Given the description of an element on the screen output the (x, y) to click on. 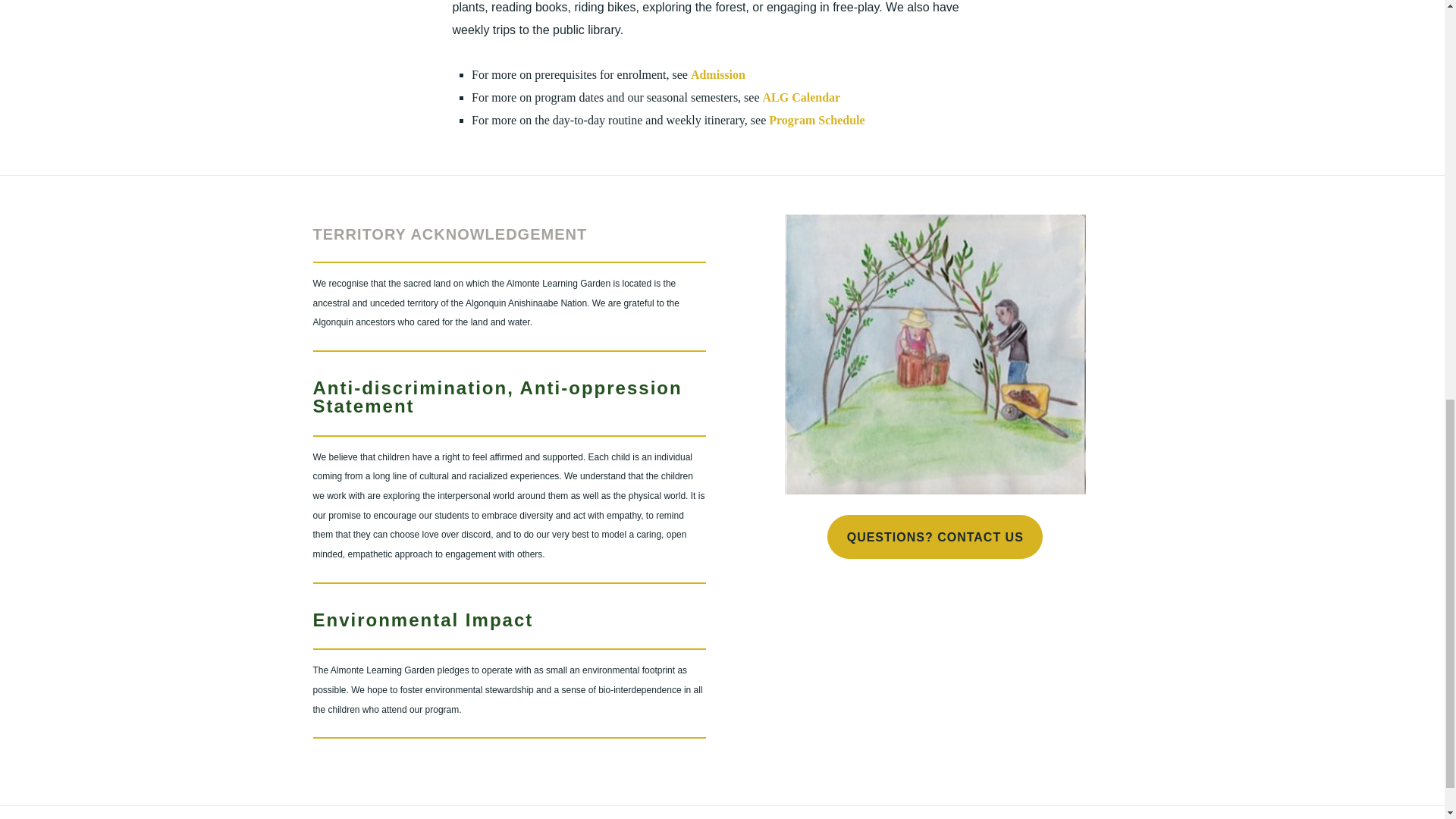
QUESTIONS? CONTACT US (934, 536)
Admission (717, 74)
ALG Calendar (801, 97)
Program Schedule (816, 119)
